Given the description of an element on the screen output the (x, y) to click on. 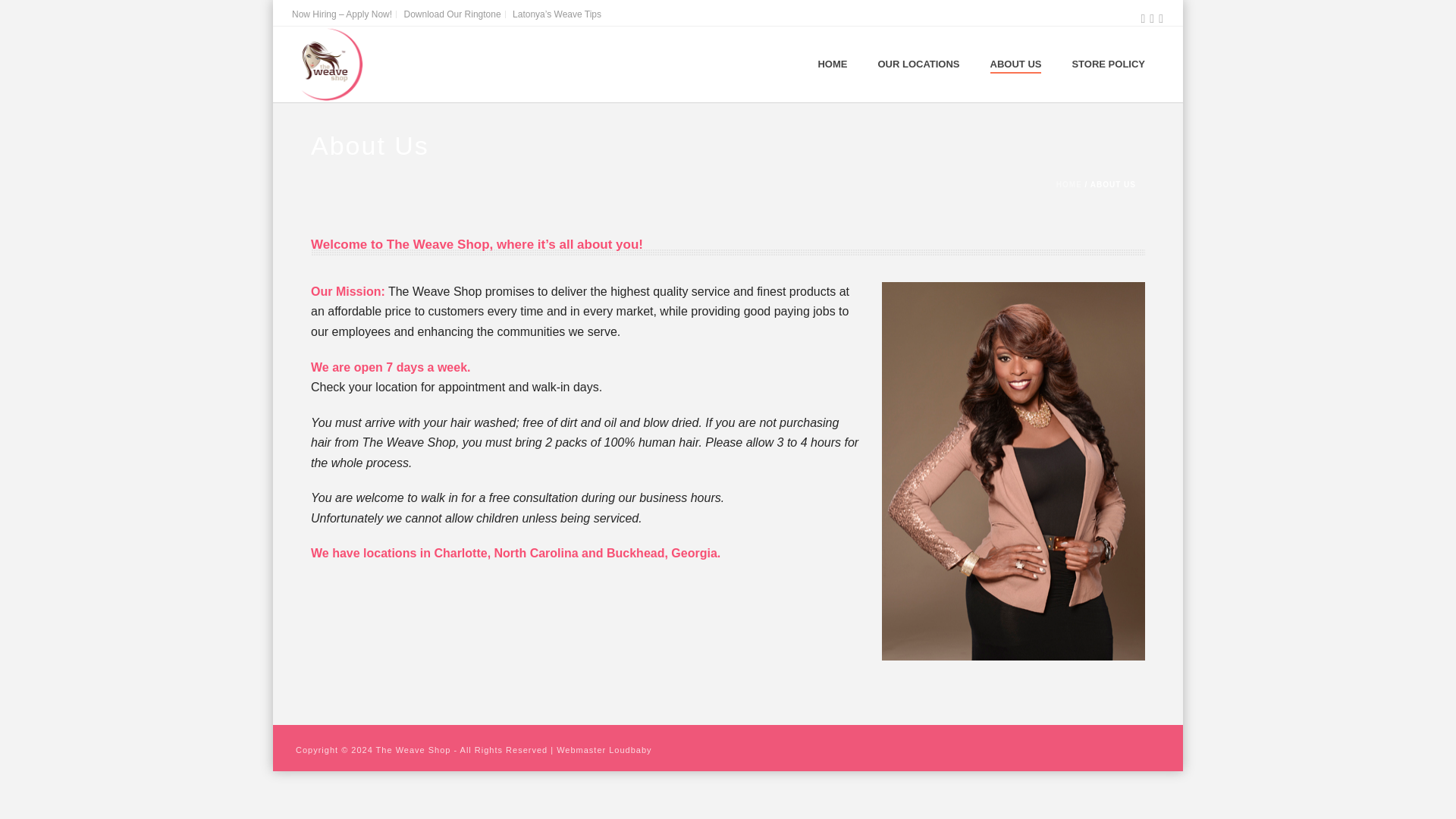
ABOUT US (1016, 64)
Download Our Ringtone (452, 14)
HOME (831, 64)
OUR LOCATIONS (917, 64)
STORE POLICY (1108, 64)
HOME (1069, 184)
